Given the description of an element on the screen output the (x, y) to click on. 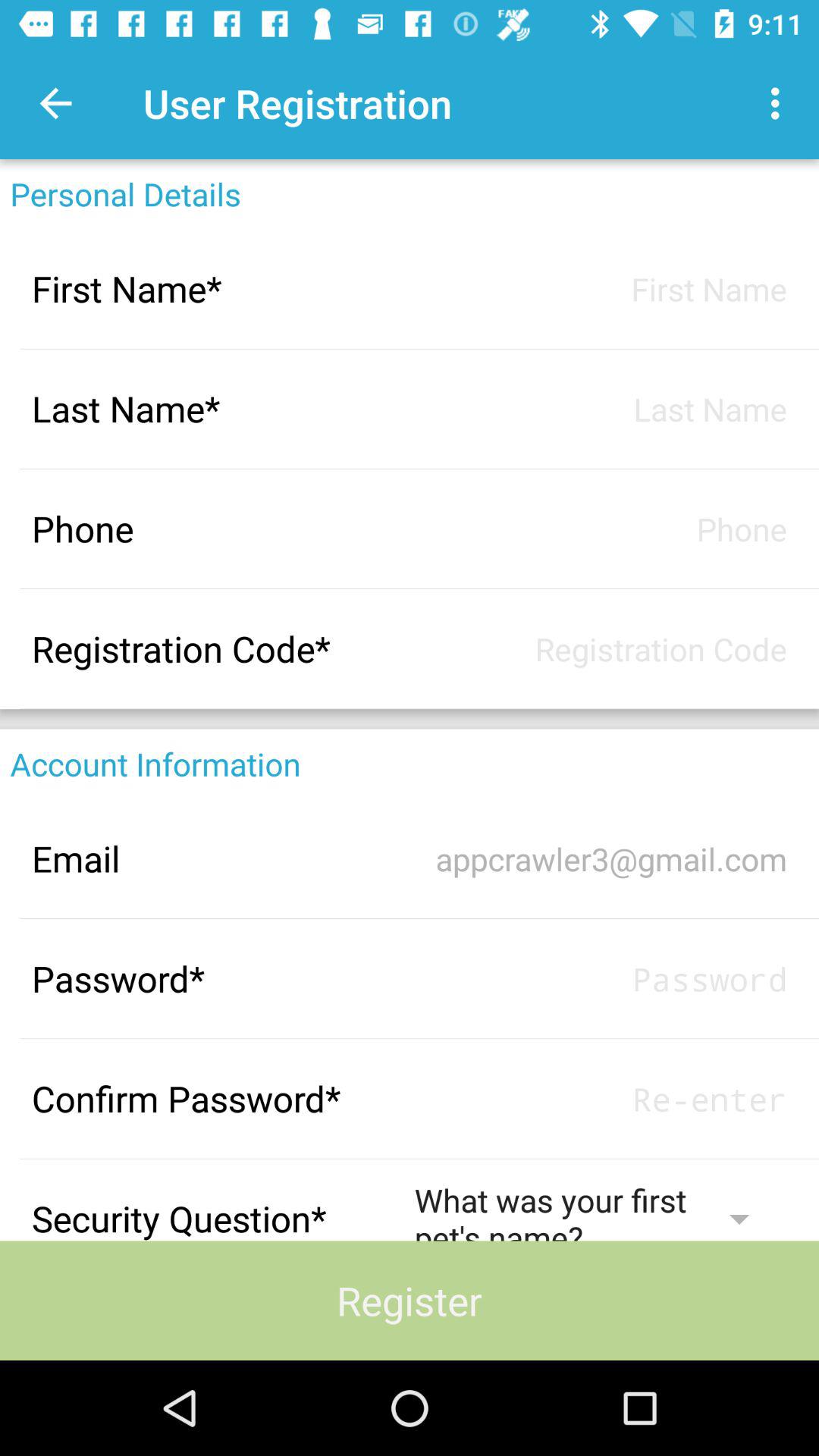
enter phone number (600, 528)
